Given the description of an element on the screen output the (x, y) to click on. 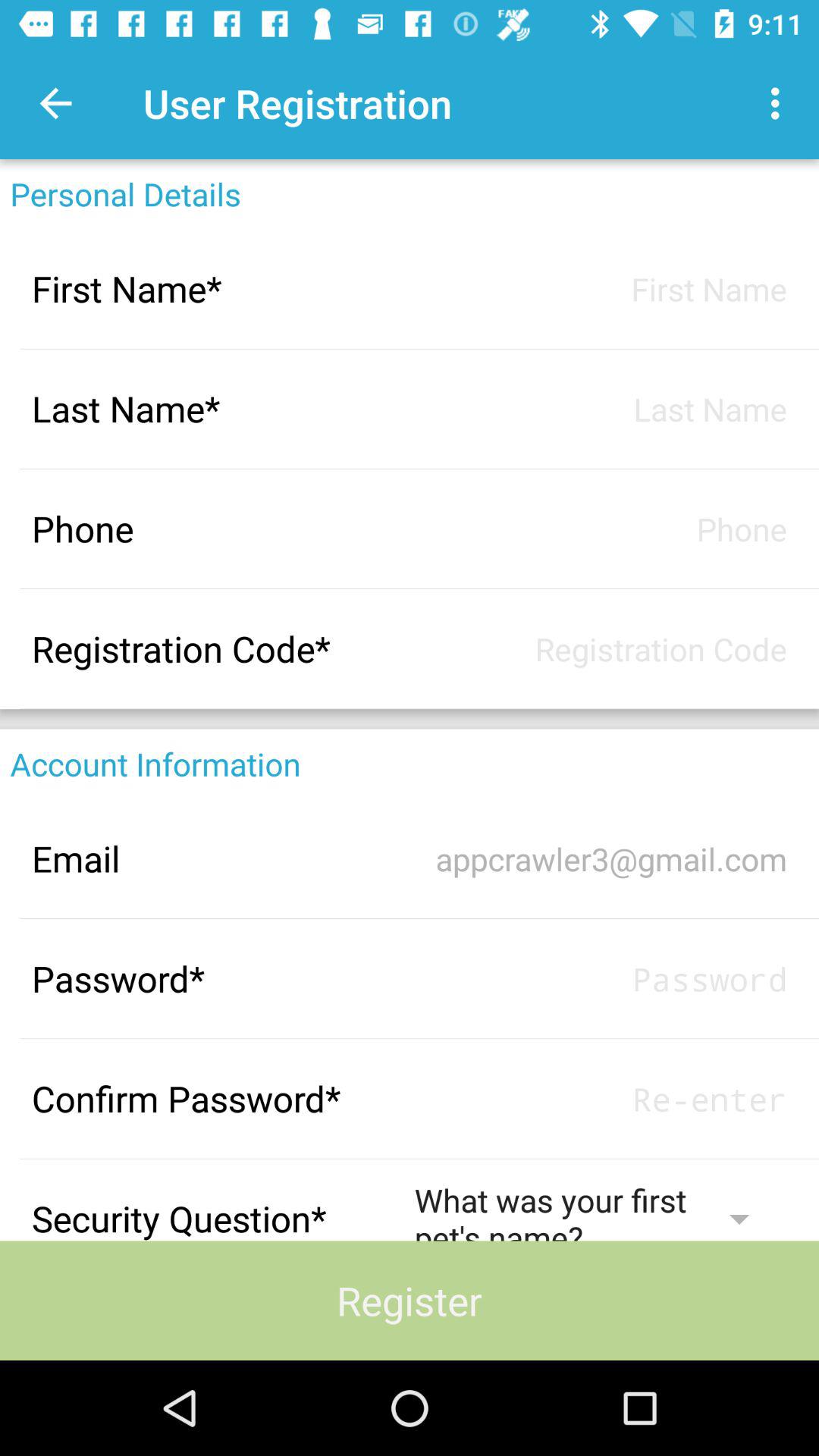
enter phone number (600, 528)
